Given the description of an element on the screen output the (x, y) to click on. 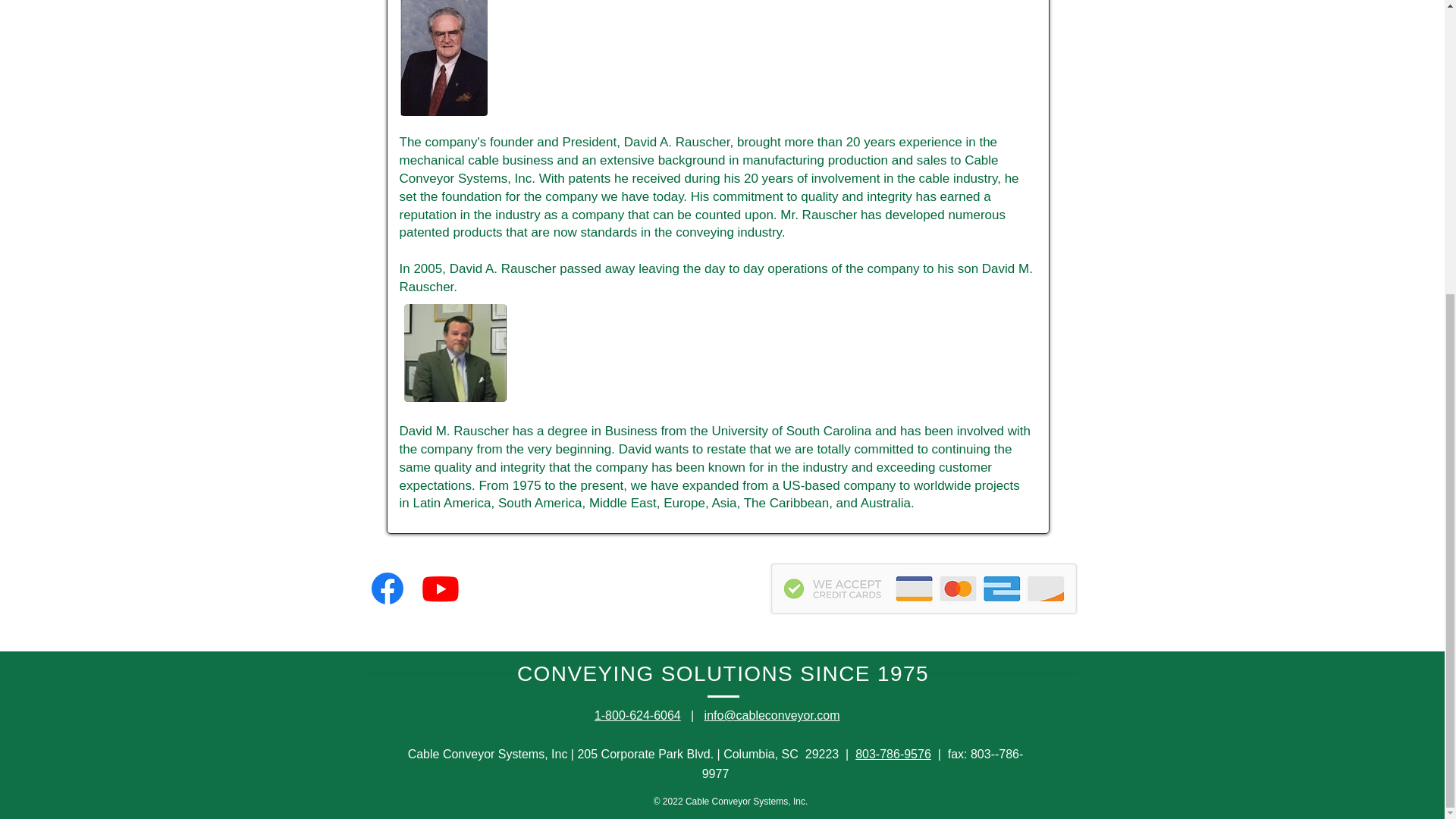
1-800-624-6064 (637, 715)
803-786-9576 (893, 753)
